Given the description of an element on the screen output the (x, y) to click on. 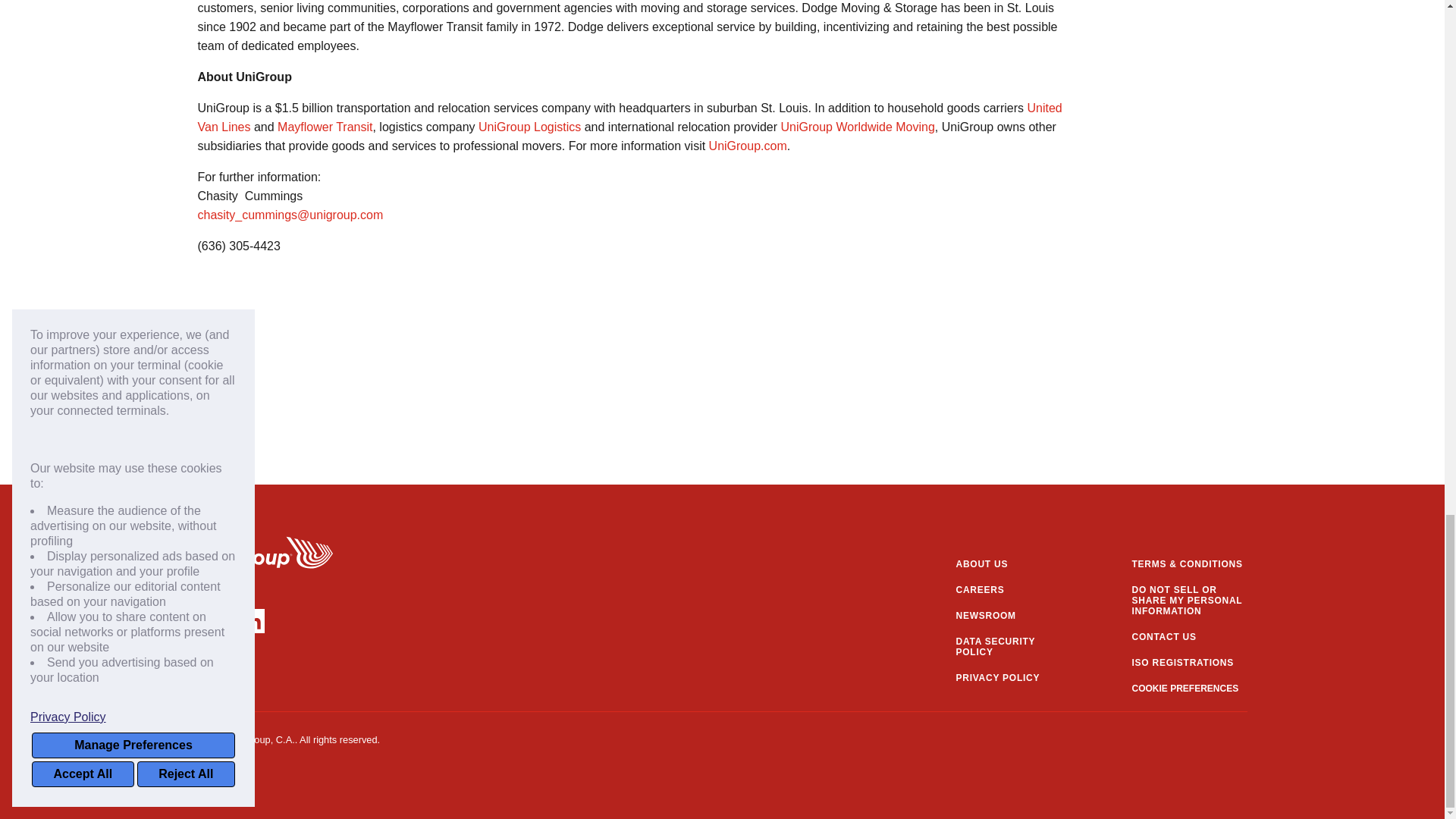
PRIVACY POLICY (1012, 677)
Mayflower Transit (325, 126)
CAREERS (1012, 589)
UniGroup Worldwide Moving (857, 126)
United Van Lines (628, 117)
NEWSROOM (1012, 615)
ABOUT US (1012, 563)
DATA SECURITY POLICY (1012, 646)
UniGroup.com (748, 145)
UniGroup Logistics (529, 126)
